Given the description of an element on the screen output the (x, y) to click on. 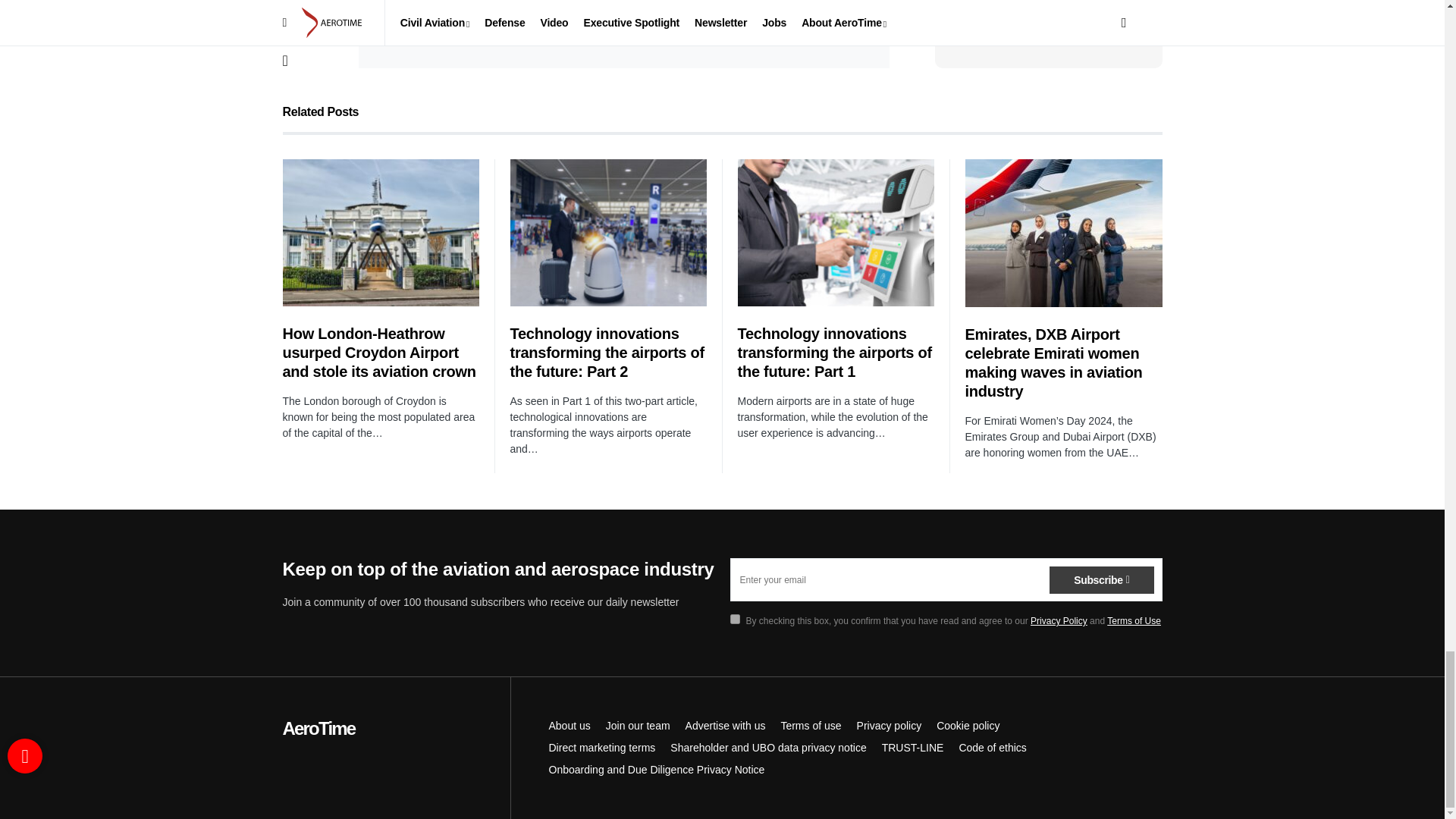
on (392, 29)
on (734, 619)
